Given the description of an element on the screen output the (x, y) to click on. 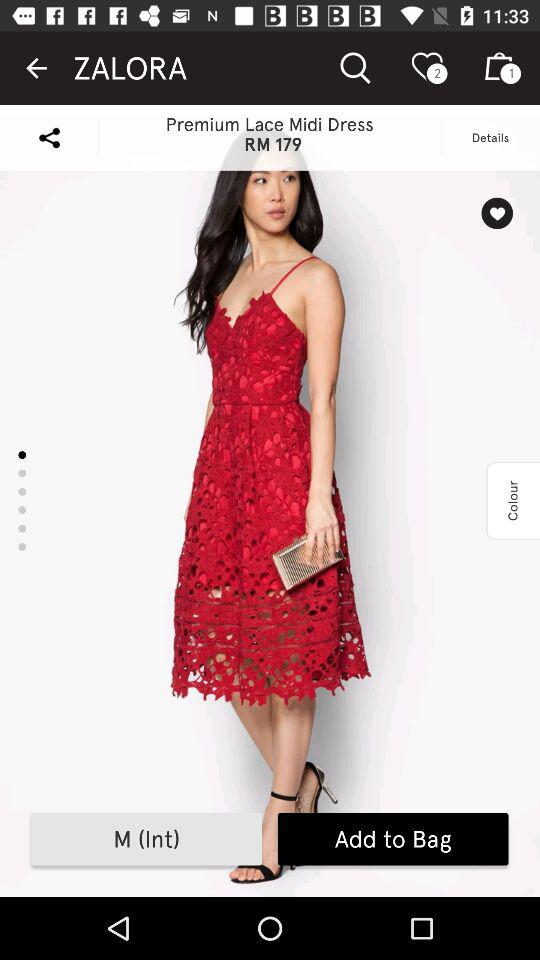
turn on icon below the details (496, 213)
